Given the description of an element on the screen output the (x, y) to click on. 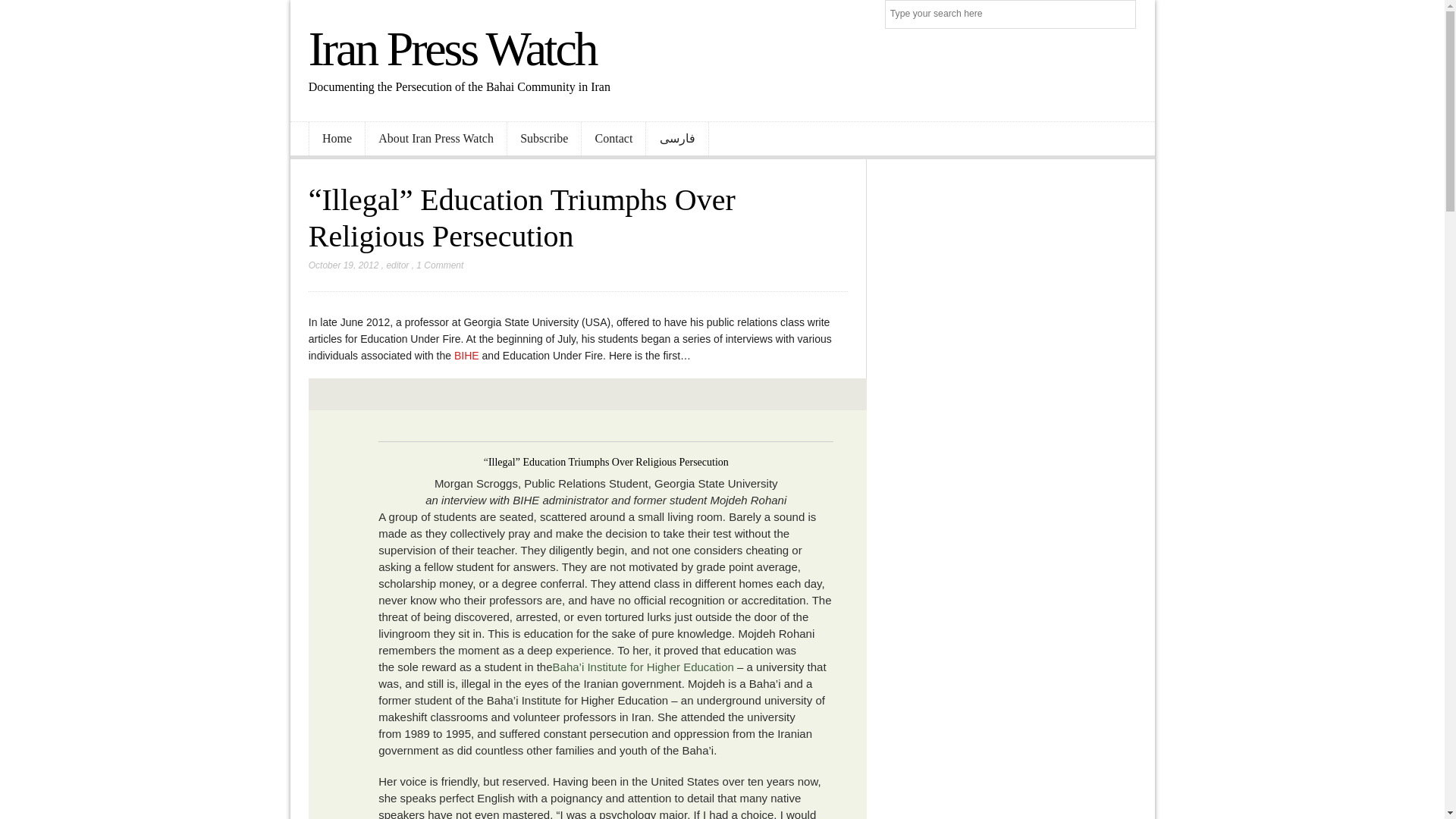
Contact (612, 139)
BIHE (466, 355)
Home (336, 139)
Posts by editor (397, 265)
editor (397, 265)
Iran Press Watch (452, 49)
Subscribe (543, 139)
Search (1123, 15)
1 Comment (439, 265)
About Iran Press Watch (435, 139)
